Given the description of an element on the screen output the (x, y) to click on. 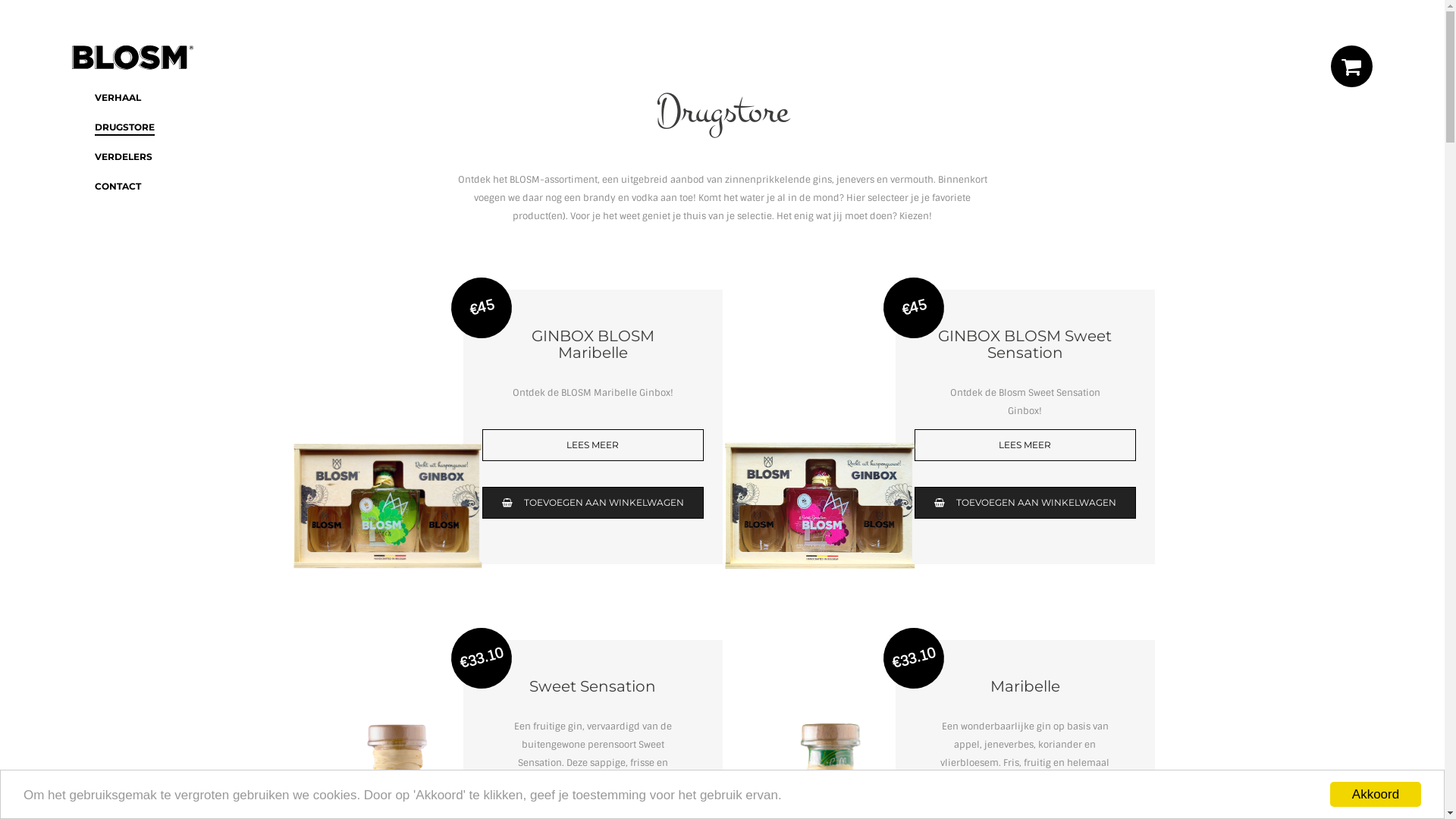
DRUGSTORE Element type: text (124, 127)
Akkoord Element type: text (1375, 793)
LEES MEER Element type: text (592, 445)
TOEVOEGEN AAN WINKELWAGEN Element type: text (1024, 502)
Blosm Element type: hover (132, 57)
VERHAAL Element type: text (117, 97)
CONTACT Element type: text (117, 186)
TOEVOEGEN AAN WINKELWAGEN Element type: text (592, 502)
Bekijk winkelmand Element type: hover (1351, 66)
VERDELERS Element type: text (123, 156)
LEES MEER Element type: text (1024, 445)
